Given the description of an element on the screen output the (x, y) to click on. 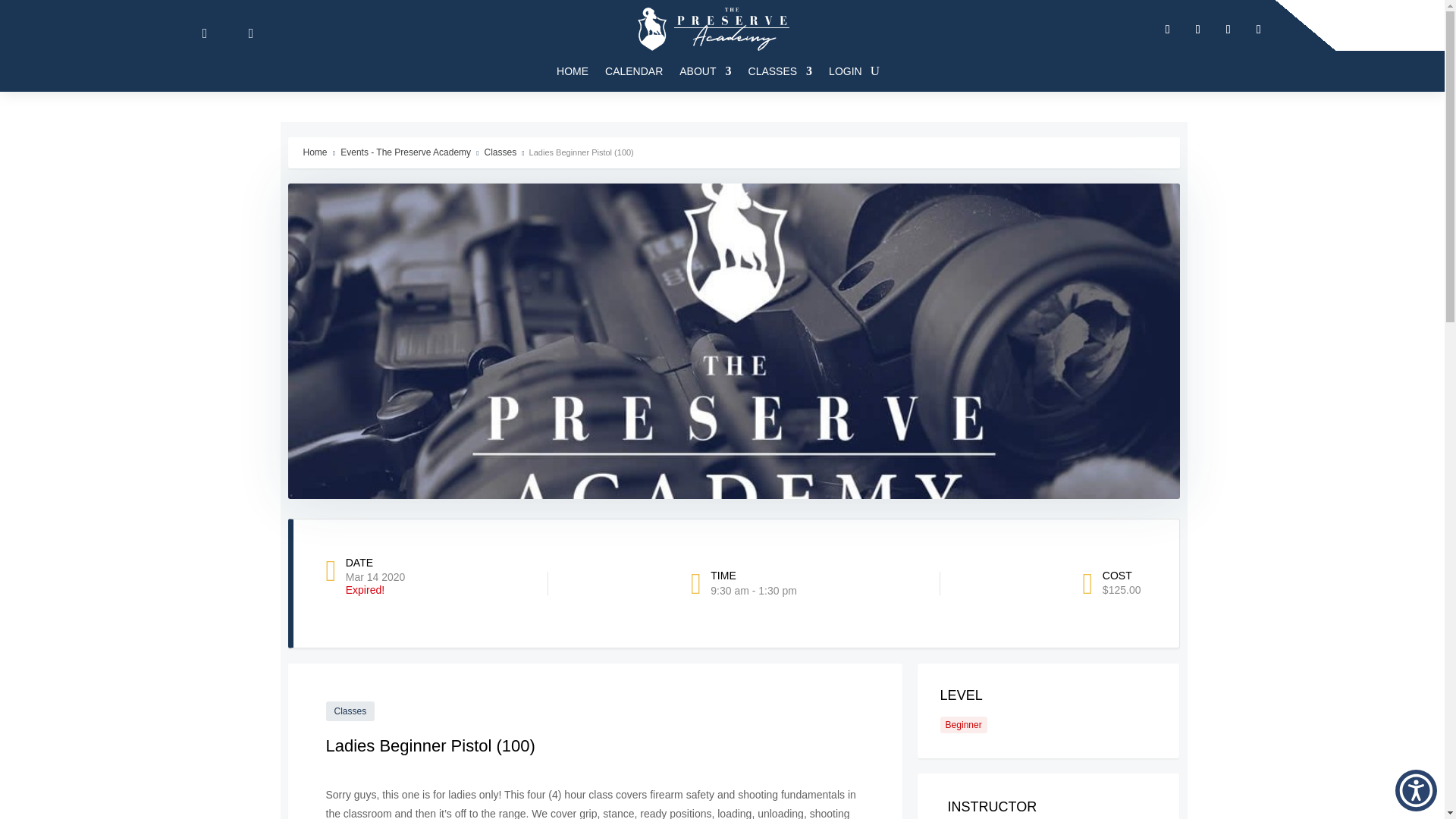
Follow on Instagram (1258, 29)
View Our Full Upcoming Class Calendar (633, 70)
Follow on LinkedIn (1227, 29)
Classes (780, 70)
CLASSES (780, 70)
Follow on X (1197, 29)
The Preserve Academy Firearms Safety Training (713, 28)
CALENDAR (633, 70)
Follow on Facebook (1167, 29)
ABOUT (704, 70)
